Given the description of an element on the screen output the (x, y) to click on. 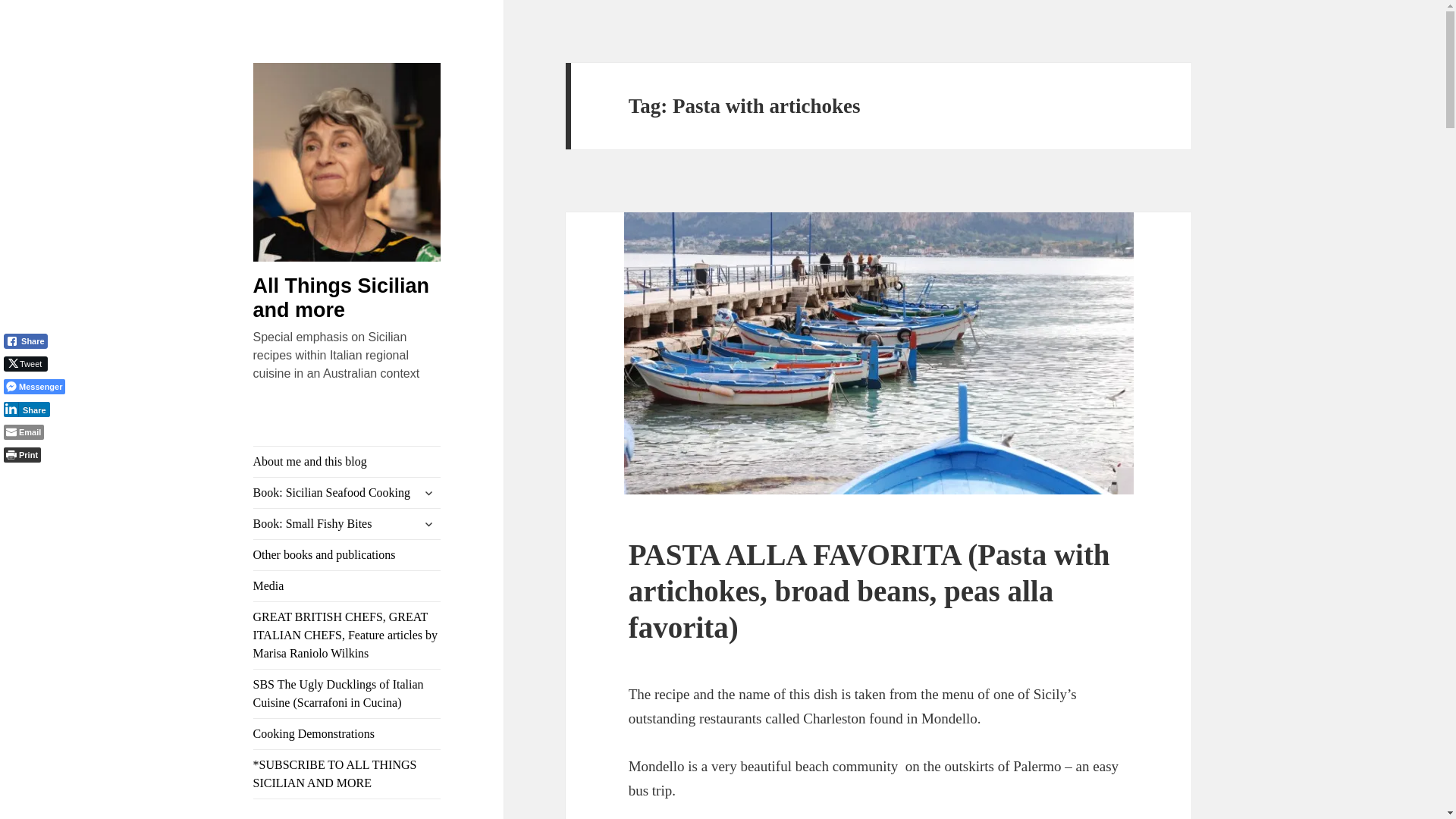
Media (347, 585)
Cooking Demonstrations (347, 734)
All Things Sicilian and more (341, 297)
expand child menu (428, 492)
About me and this blog (347, 461)
Book: Sicilian Seafood Cooking (347, 492)
expand child menu (428, 523)
Other books and publications (347, 554)
Book: Small Fishy Bites (347, 523)
